Given the description of an element on the screen output the (x, y) to click on. 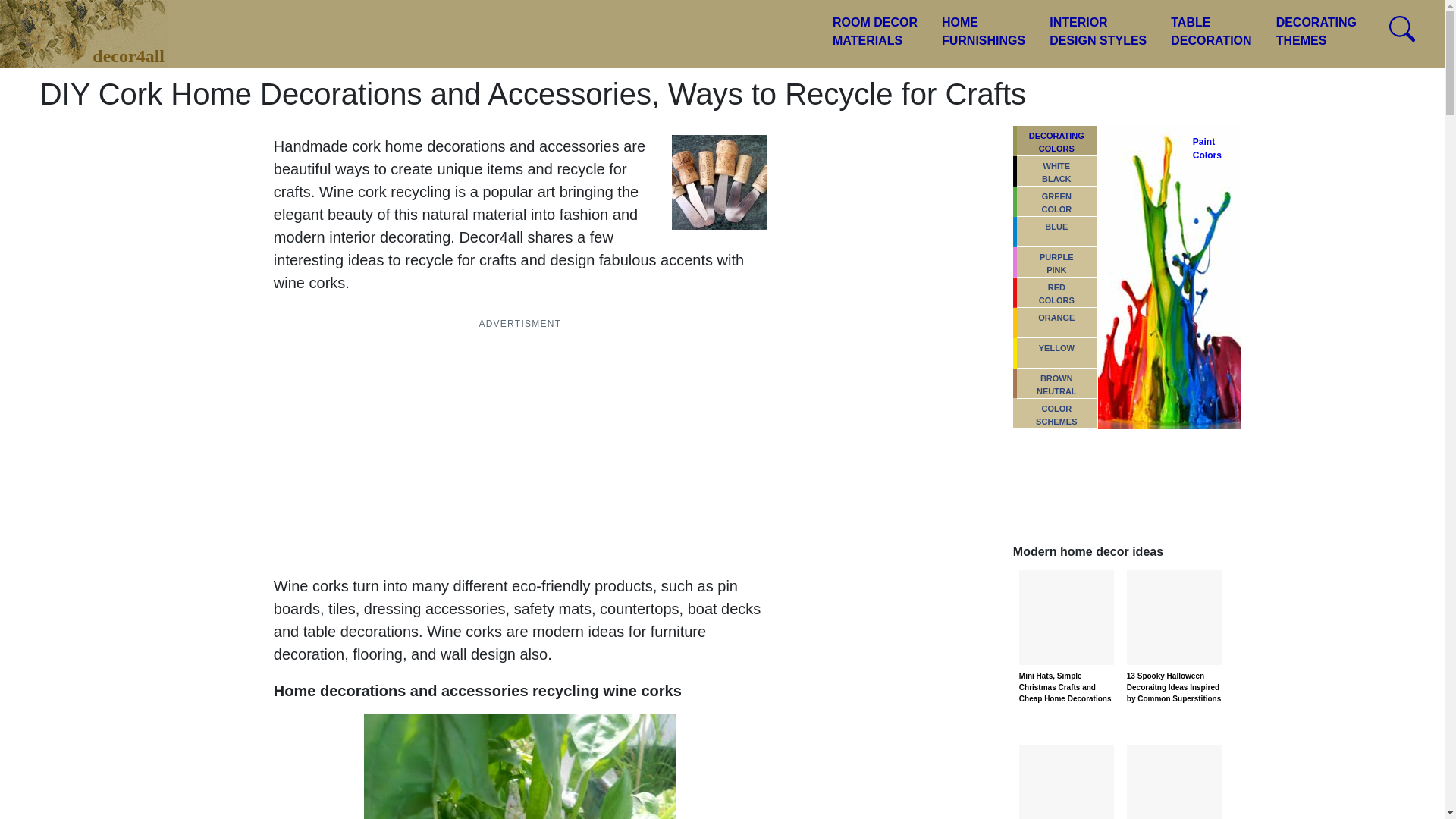
BLUE (1097, 31)
decor4all (1056, 201)
DECORATING COLORS (1056, 232)
